Given the description of an element on the screen output the (x, y) to click on. 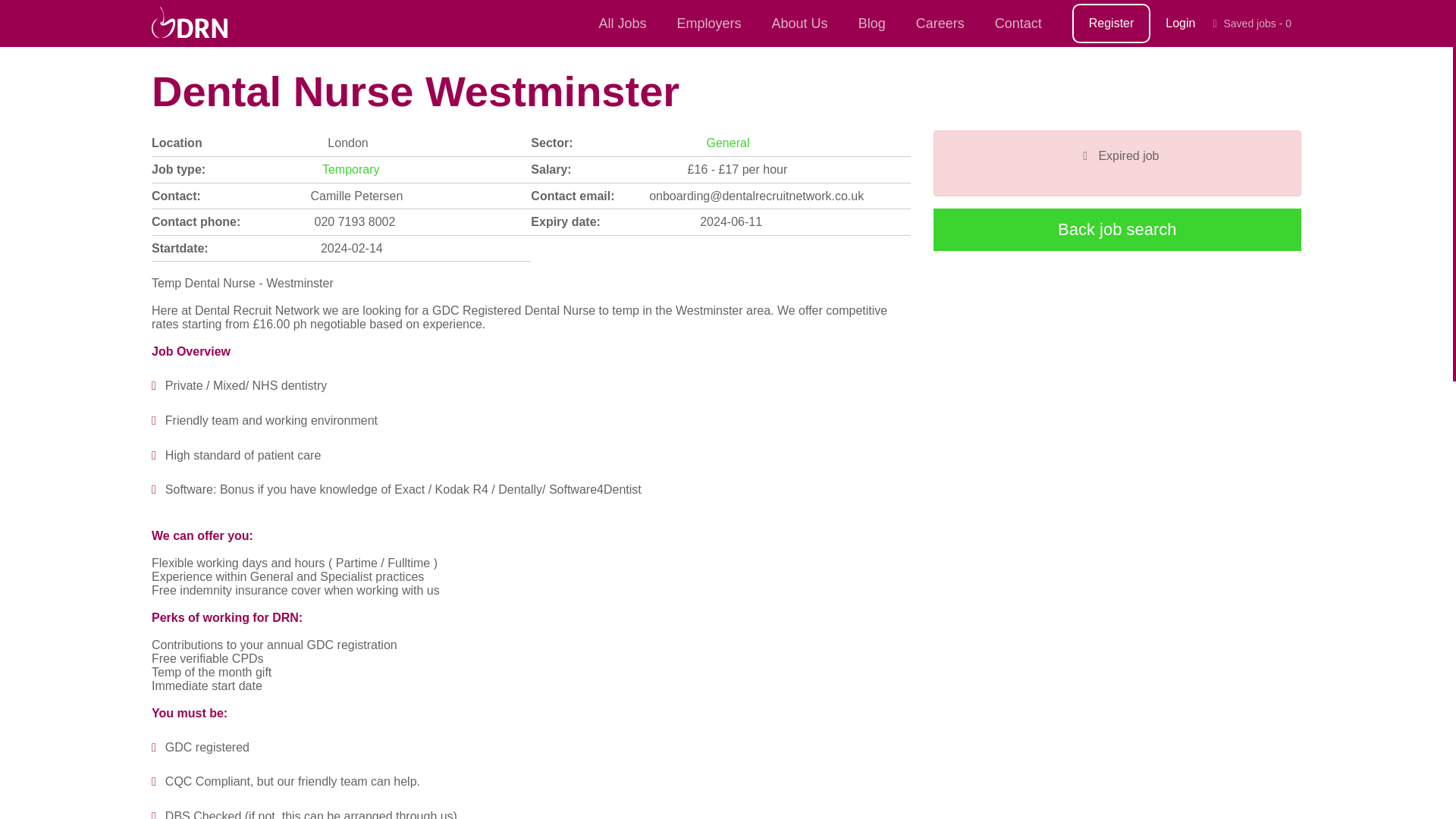
Temporary (350, 169)
All Jobs (622, 23)
Register (1111, 23)
Careers (939, 22)
Login (1180, 23)
Employers (709, 22)
Back job search (1117, 229)
About Us (799, 22)
Saved jobs - 0 (1251, 23)
General (727, 142)
